Given the description of an element on the screen output the (x, y) to click on. 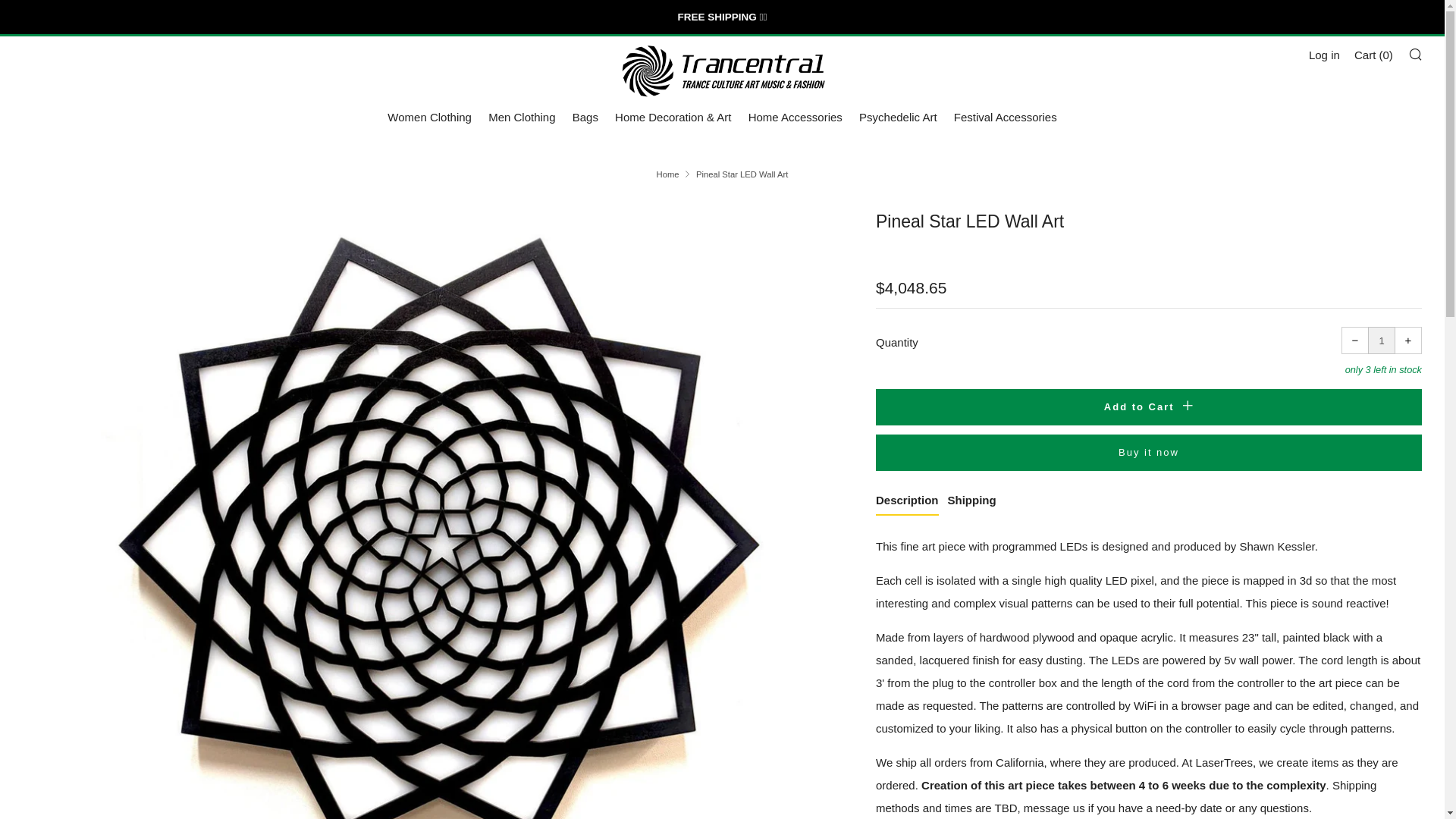
Buy it now (1149, 452)
Log in (1323, 55)
Search (1414, 53)
Shipping (971, 501)
1 (1381, 339)
Home Accessories (795, 117)
Bags (585, 117)
Psychedelic Art (898, 117)
Home (667, 174)
Festival Accessories (1005, 117)
Description (907, 501)
Women Clothing (429, 117)
Men Clothing (520, 117)
Home (667, 174)
Add to Cart (1149, 407)
